Given the description of an element on the screen output the (x, y) to click on. 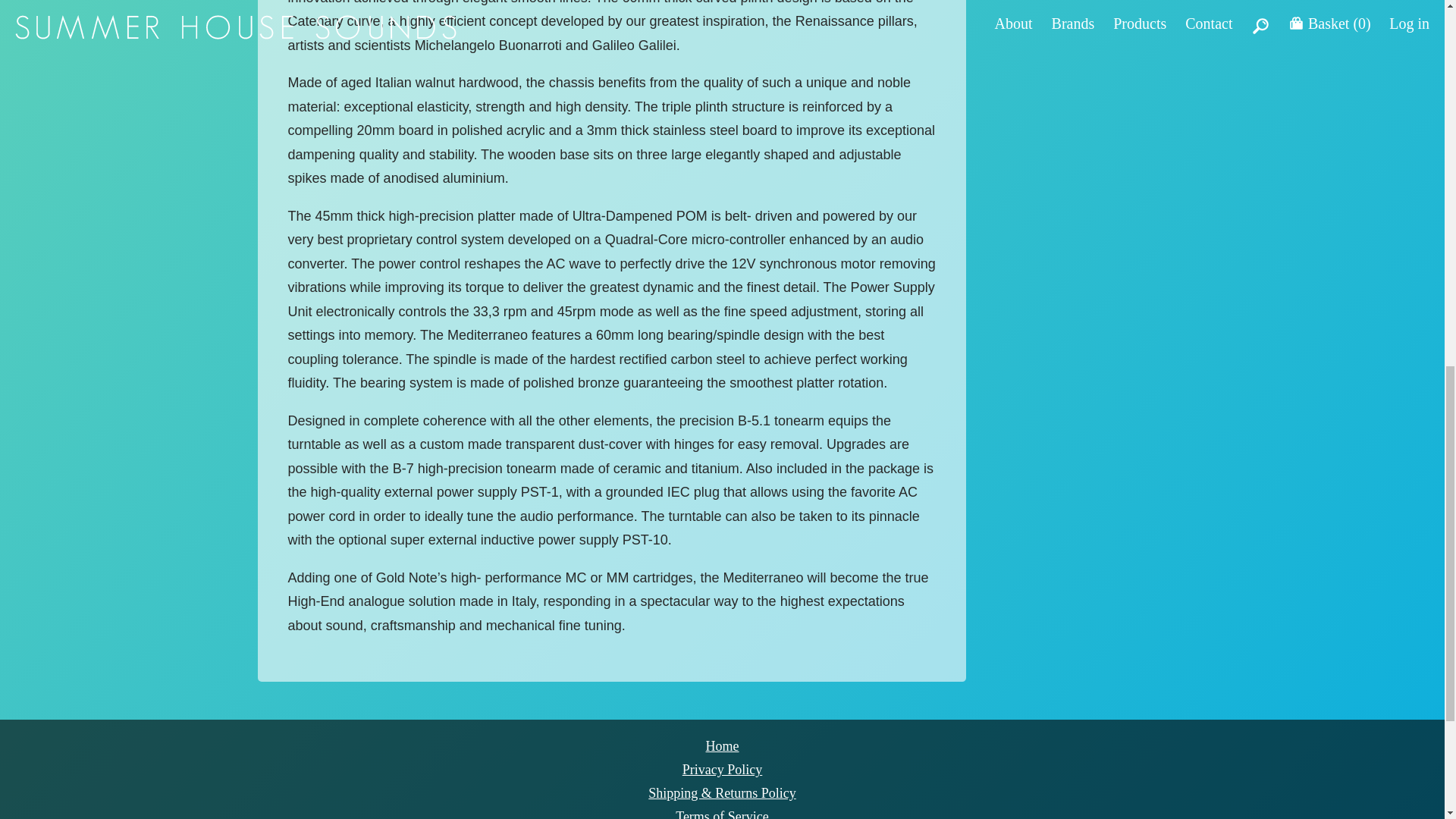
Terms of Service (721, 813)
Privacy Policy (722, 769)
Home (721, 745)
